Given the description of an element on the screen output the (x, y) to click on. 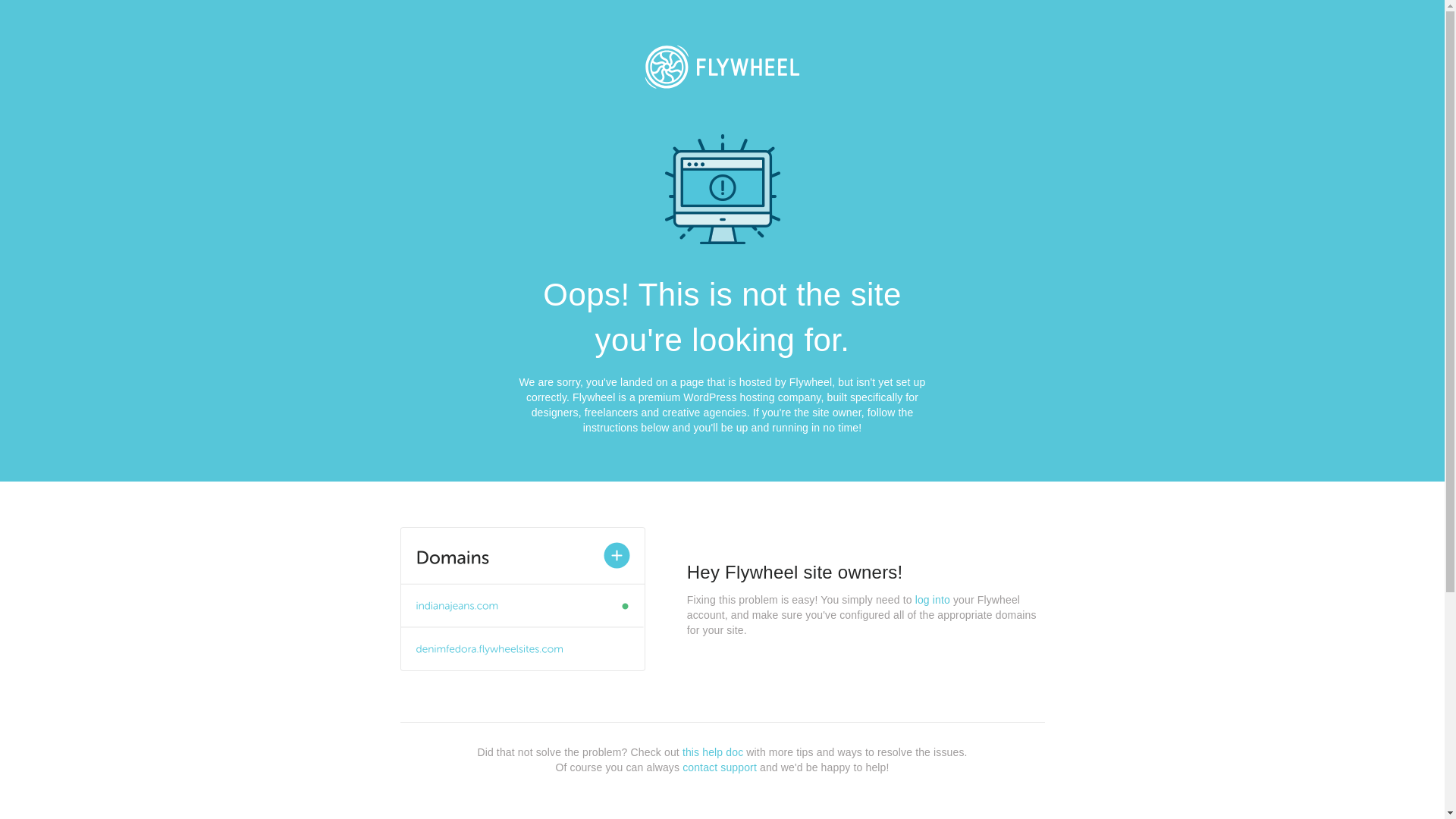
contact support (719, 767)
log into (932, 599)
this help doc (712, 752)
